Given the description of an element on the screen output the (x, y) to click on. 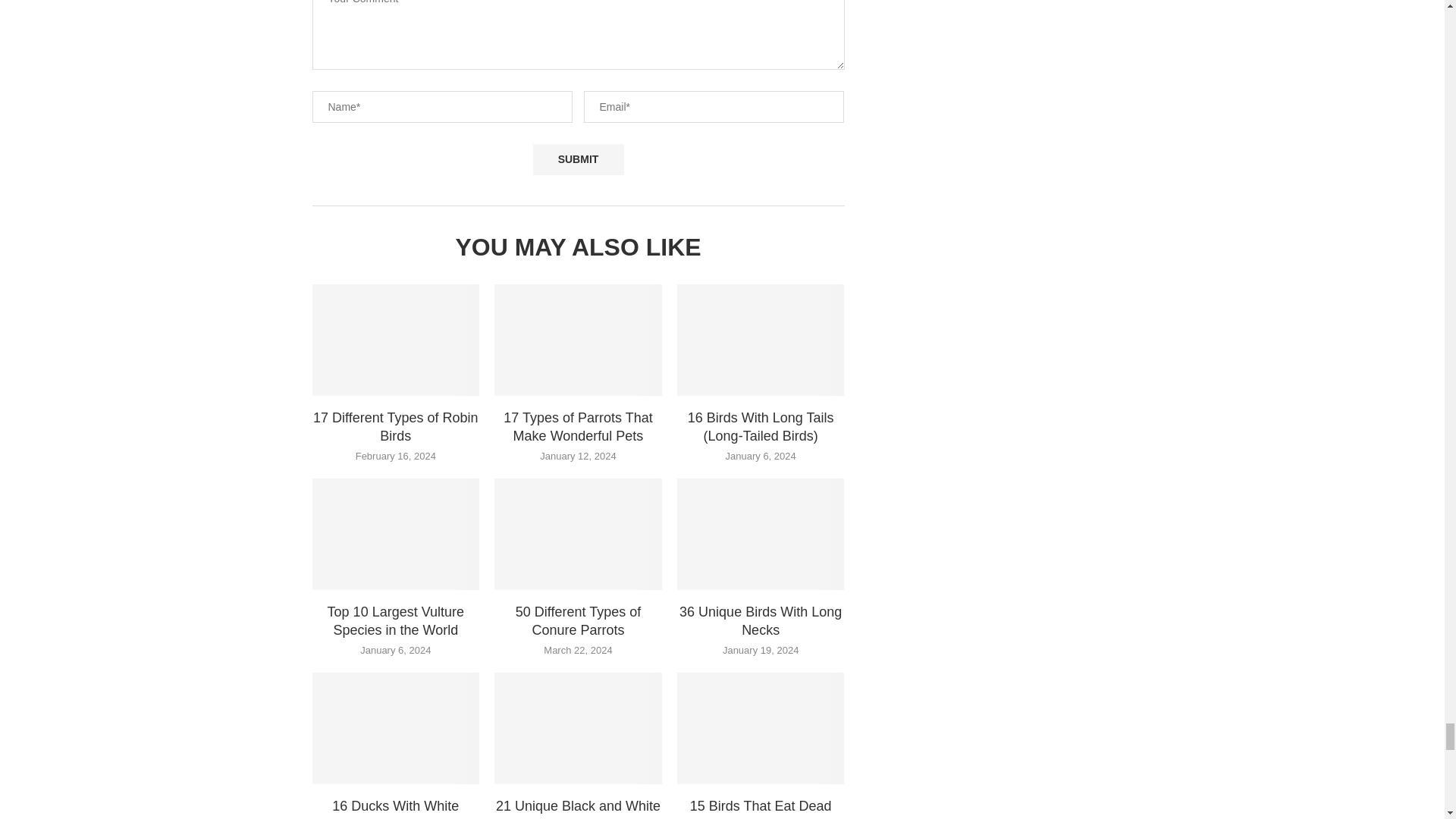
Top 10 Largest Vulture Species in the World (396, 533)
36 Unique Birds With Long Necks (760, 533)
Submit (577, 159)
50 Different Types of Conure Parrots (578, 533)
17 Different Types of Robin Birds (396, 339)
17 Types of Parrots That Make Wonderful Pets (578, 339)
21 Unique Black and White Duck Breeds (578, 727)
